Given the description of an element on the screen output the (x, y) to click on. 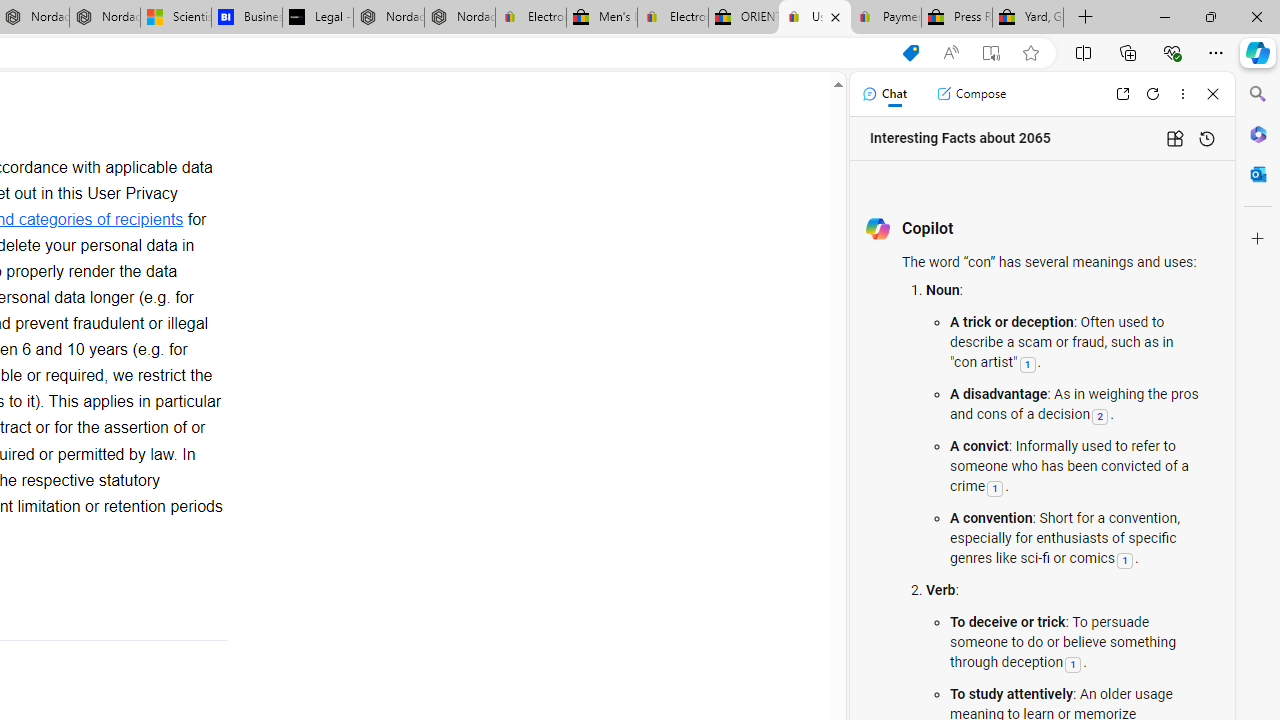
Enter Immersive Reader (F9) (991, 53)
This site has coupons! Shopping in Microsoft Edge (910, 53)
Compose (971, 93)
